Given the description of an element on the screen output the (x, y) to click on. 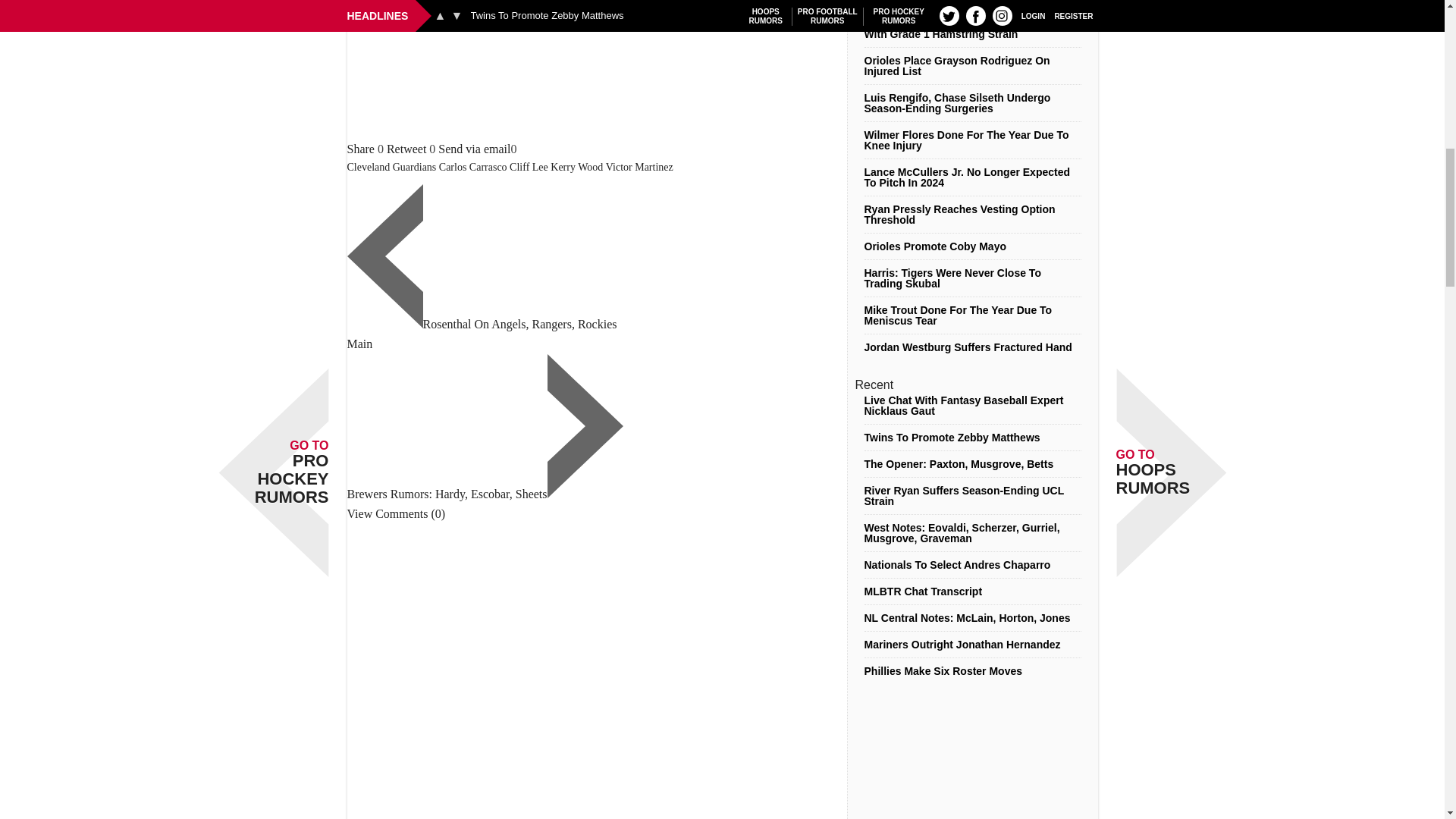
Send Indians GM On The Rebuilding Process with an email (474, 148)
Share 'Indians GM On The Rebuilding Process' on Facebook (360, 148)
Retweet 'Indians GM On The Rebuilding Process' on Twitter (406, 148)
